Given the description of an element on the screen output the (x, y) to click on. 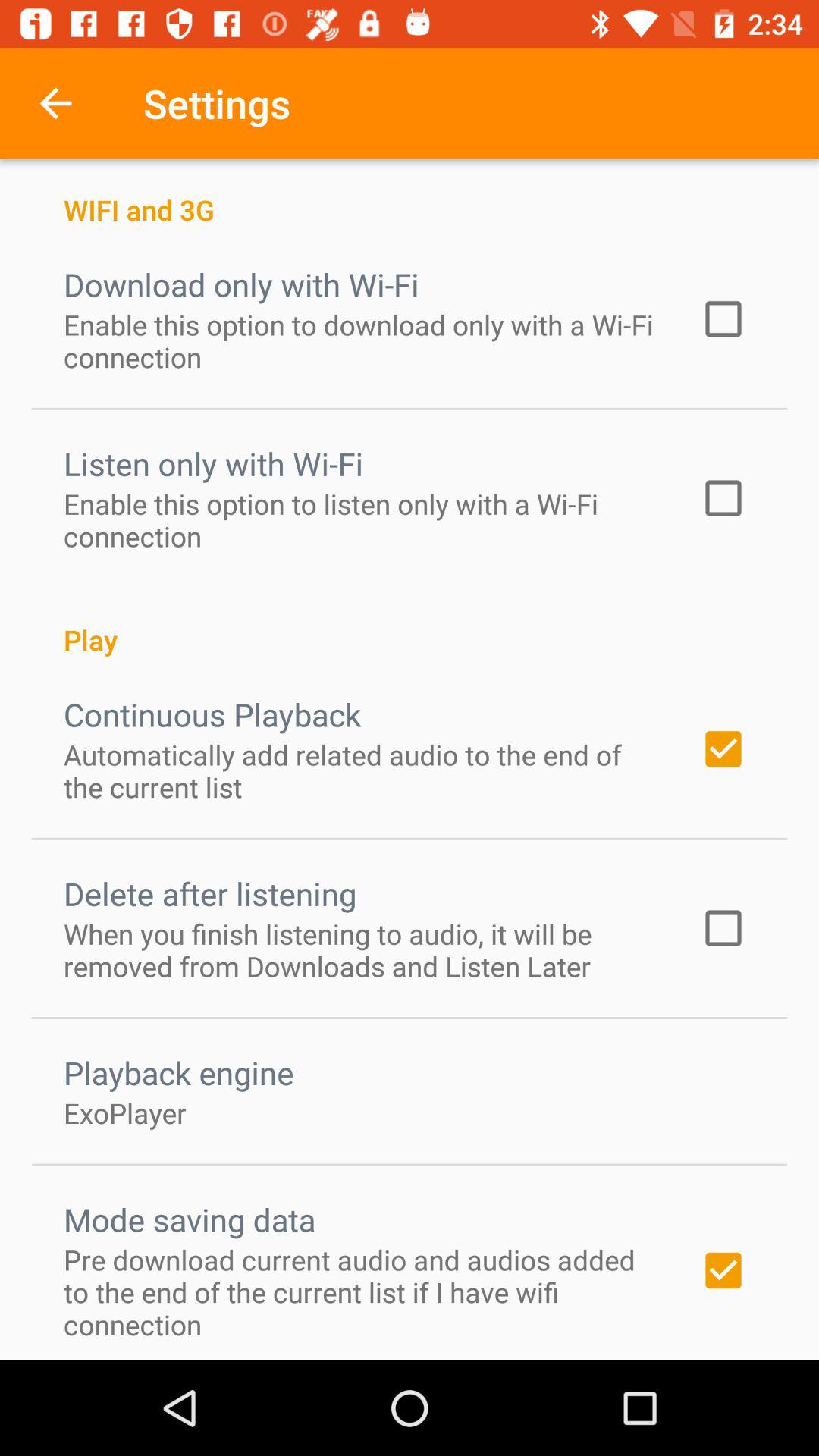
turn off the when you finish (361, 950)
